Given the description of an element on the screen output the (x, y) to click on. 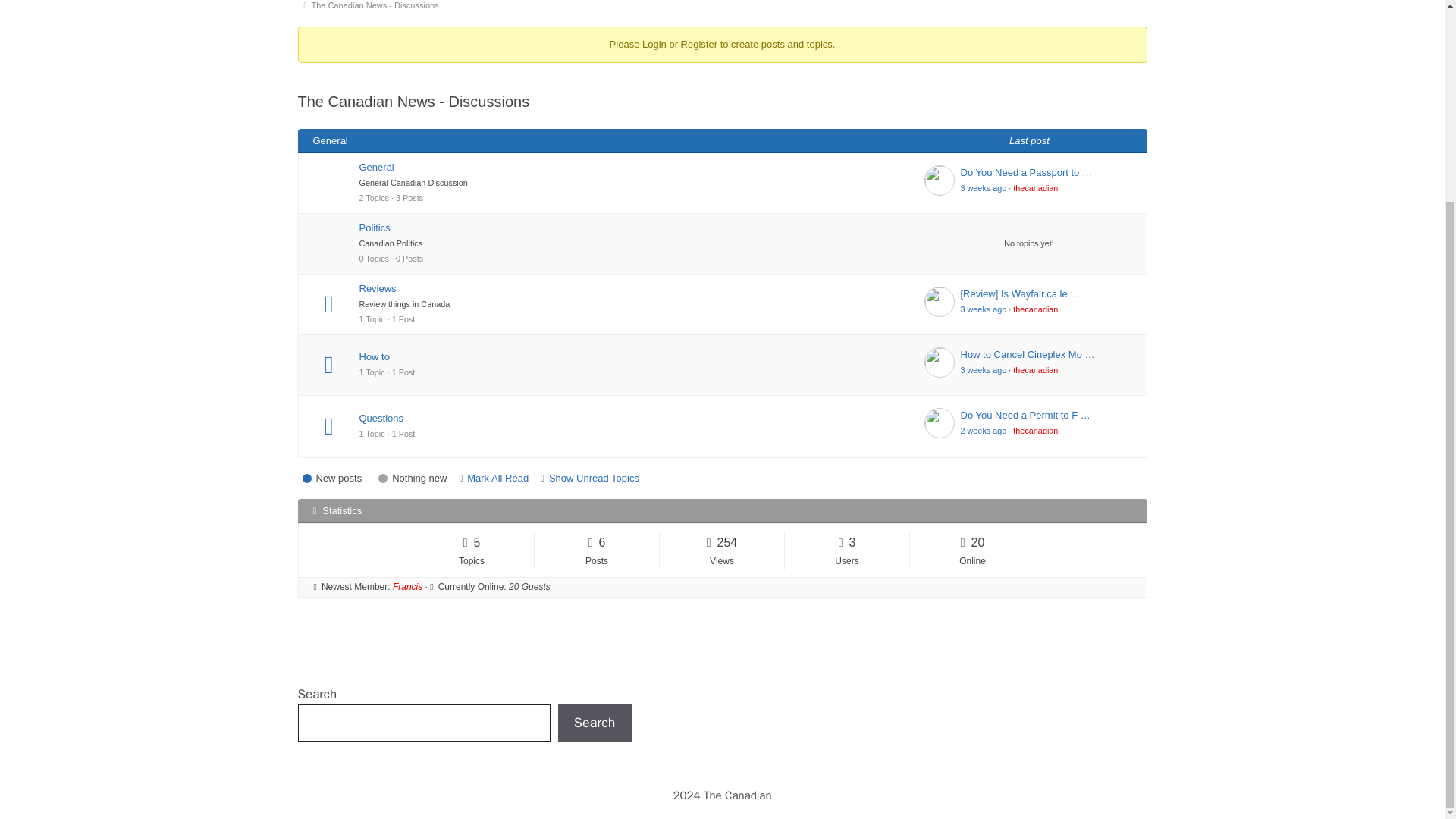
Register (699, 43)
3 weeks ago (982, 308)
Login (654, 43)
thecanadian (1035, 187)
Politics (629, 227)
thecanadian (1035, 308)
3 weeks ago (982, 187)
The Canadian News - Discussions (377, 7)
How to (629, 356)
General (629, 167)
